Given the description of an element on the screen output the (x, y) to click on. 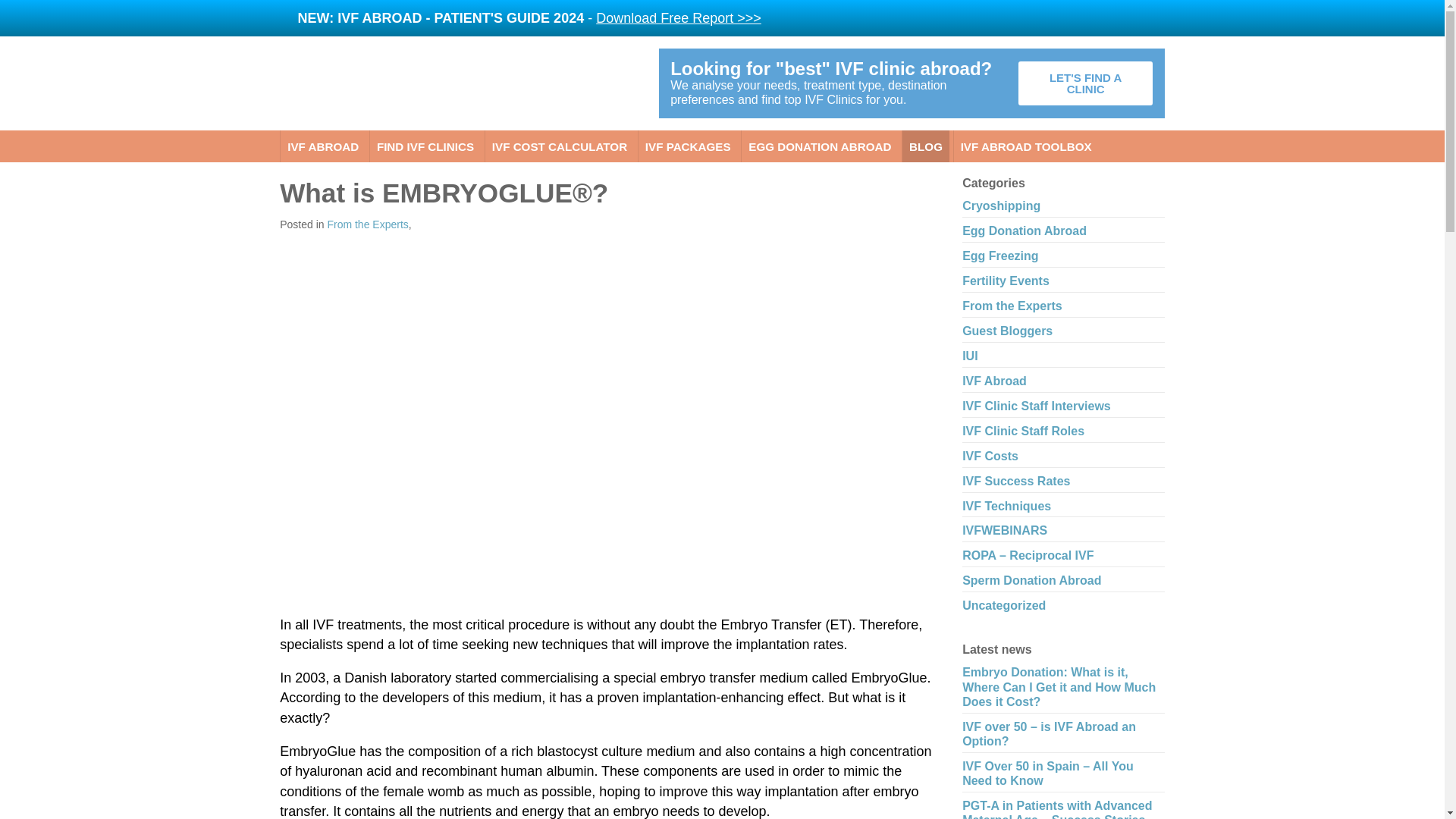
LET'S FIND A CLINIC (1085, 83)
IVF PACKAGES (688, 145)
IVF ABROAD (323, 145)
IVF COST CALCULATOR (559, 145)
FIND IVF CLINICS (424, 145)
Fertility Clinics Abroad (456, 75)
